Given the description of an element on the screen output the (x, y) to click on. 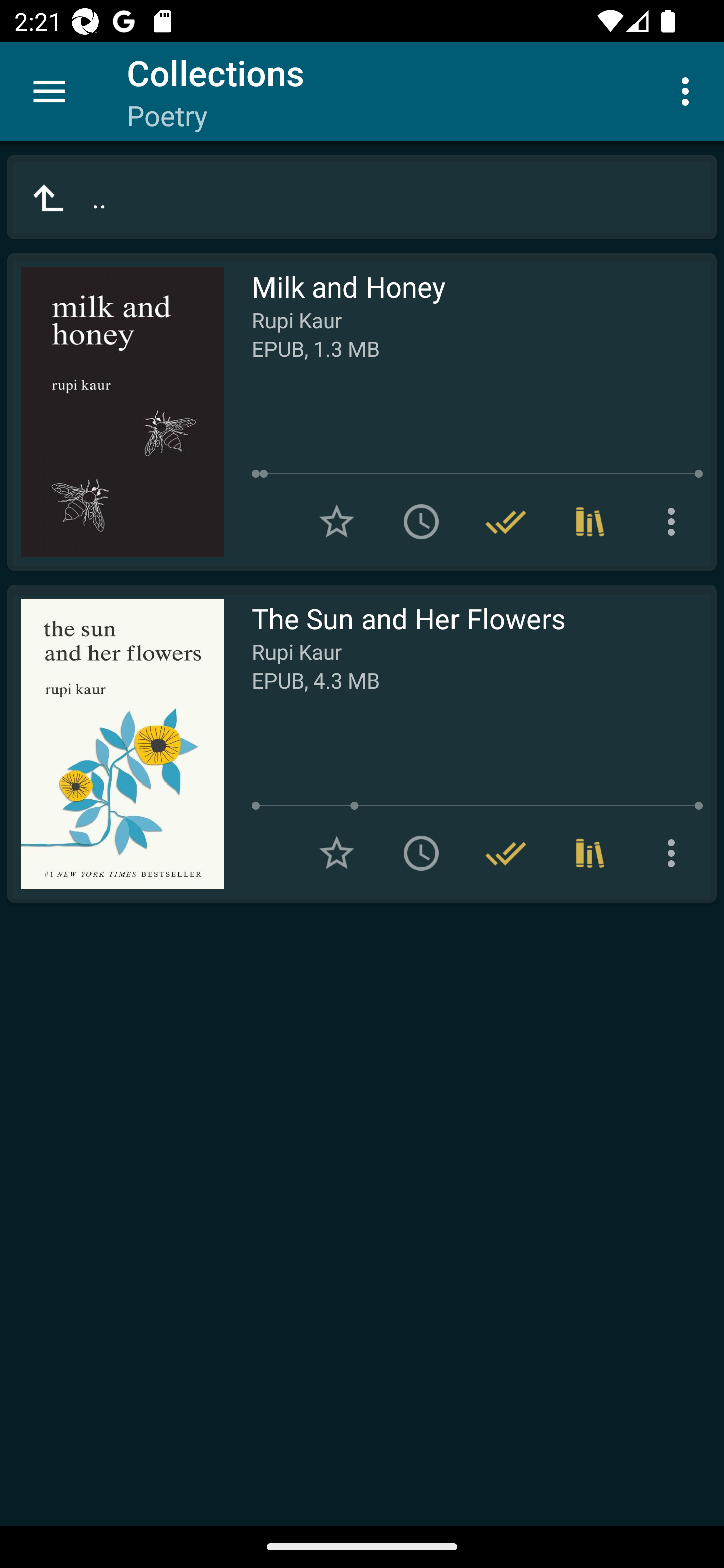
Menu (49, 91)
More options (688, 90)
.. (361, 197)
Read Milk and Honey (115, 412)
Add to Favorites (336, 521)
Add to To read (421, 521)
Remove from Have read (505, 521)
Collections (3) (590, 521)
More options (674, 521)
Read The Sun and Her Flowers (115, 743)
Add to Favorites (336, 852)
Add to To read (421, 852)
Remove from Have read (505, 852)
Collections (1) (590, 852)
More options (674, 852)
